Given the description of an element on the screen output the (x, y) to click on. 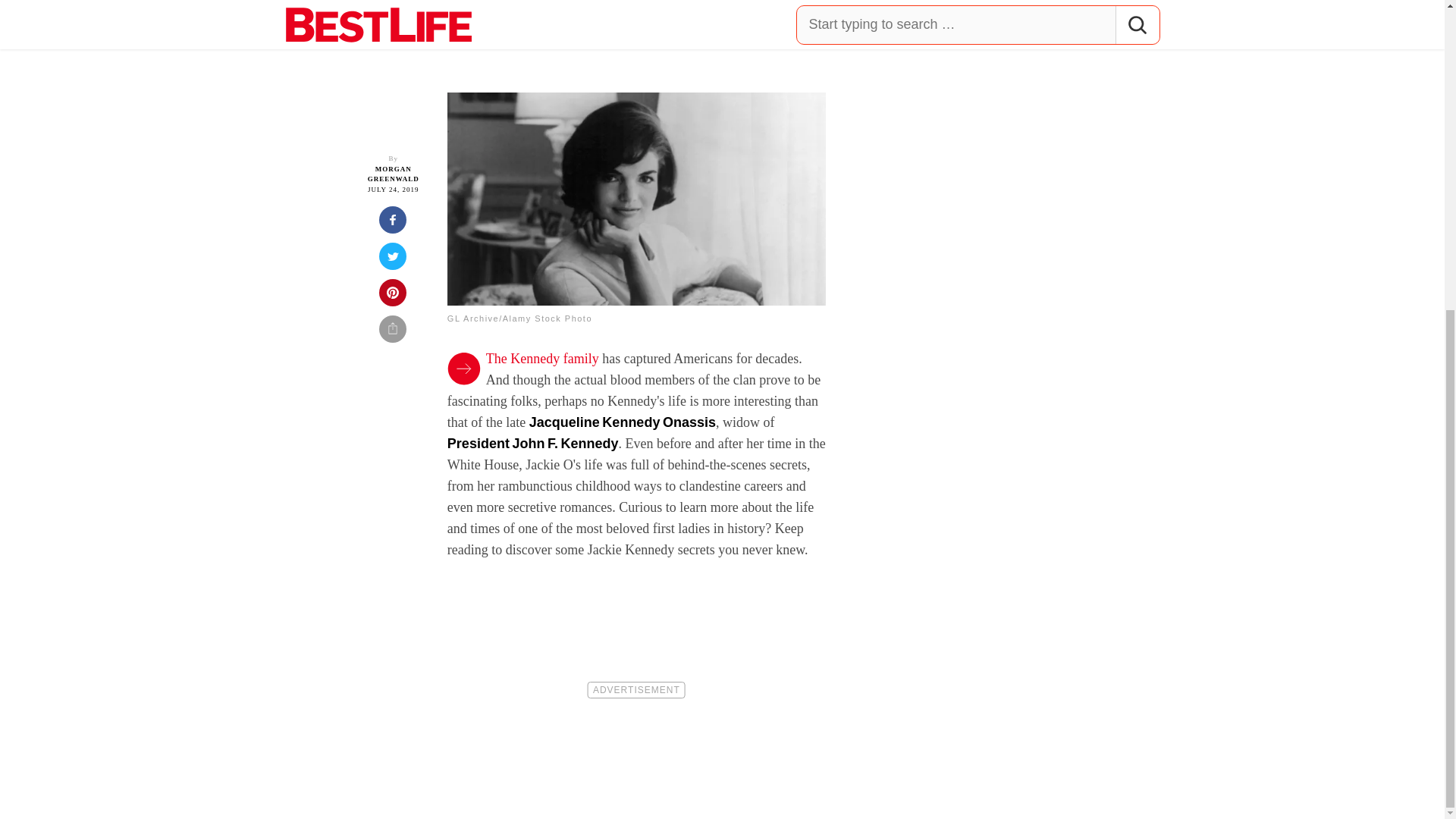
The Kennedy family (542, 358)
MORGAN GREENWALD (393, 174)
Share via email (392, 333)
Share on Facebook (392, 224)
Share on Pinterest (392, 297)
Share on Twitter (392, 260)
